Given the description of an element on the screen output the (x, y) to click on. 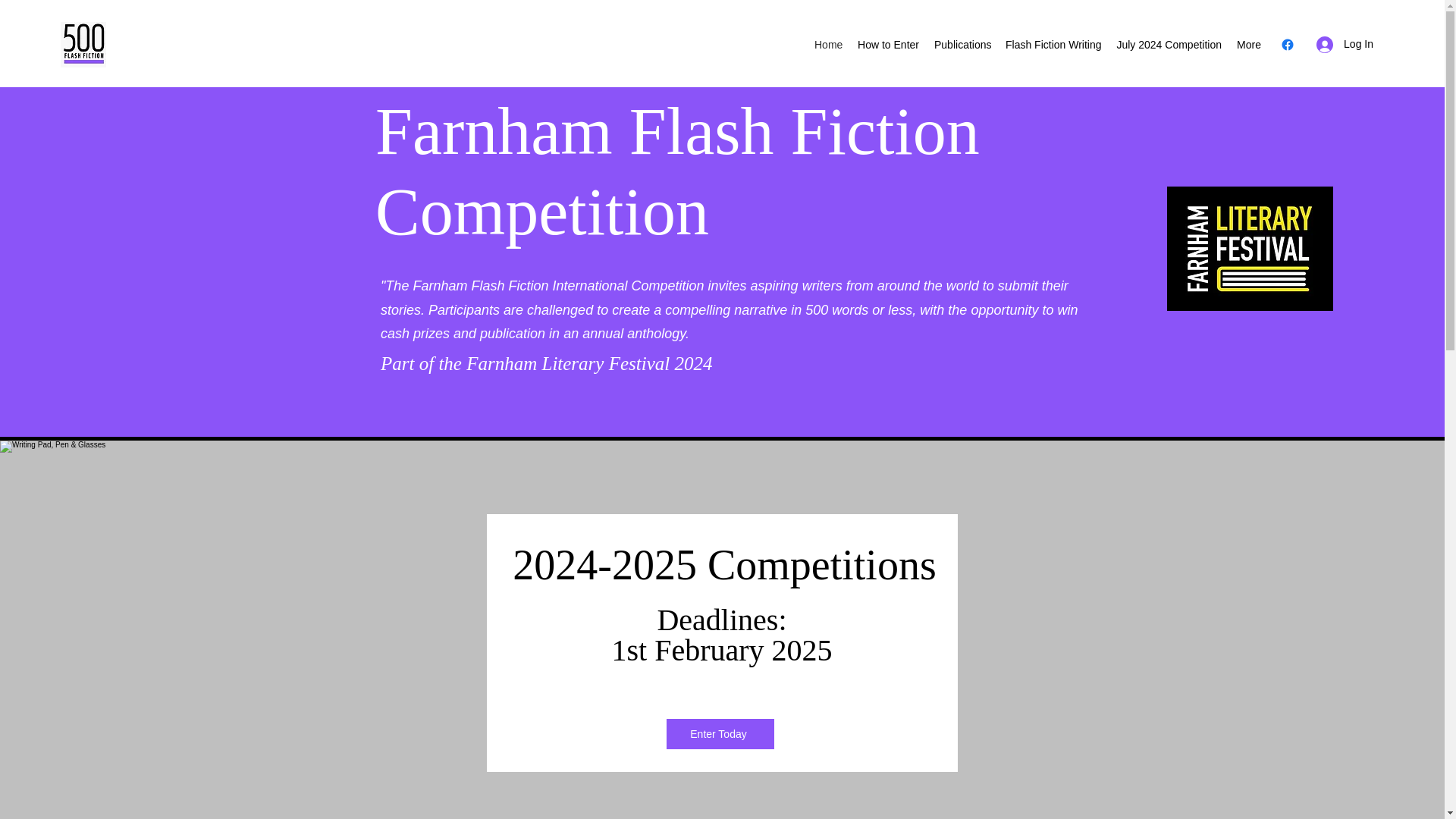
Publications (961, 44)
Home (828, 44)
July 2024 Competition (1168, 44)
Log In (1345, 44)
How to Enter (888, 44)
Flash Fiction Writing (1052, 44)
Annual Flash Fiction Competition (83, 44)
Enter Today (719, 734)
